Given the description of an element on the screen output the (x, y) to click on. 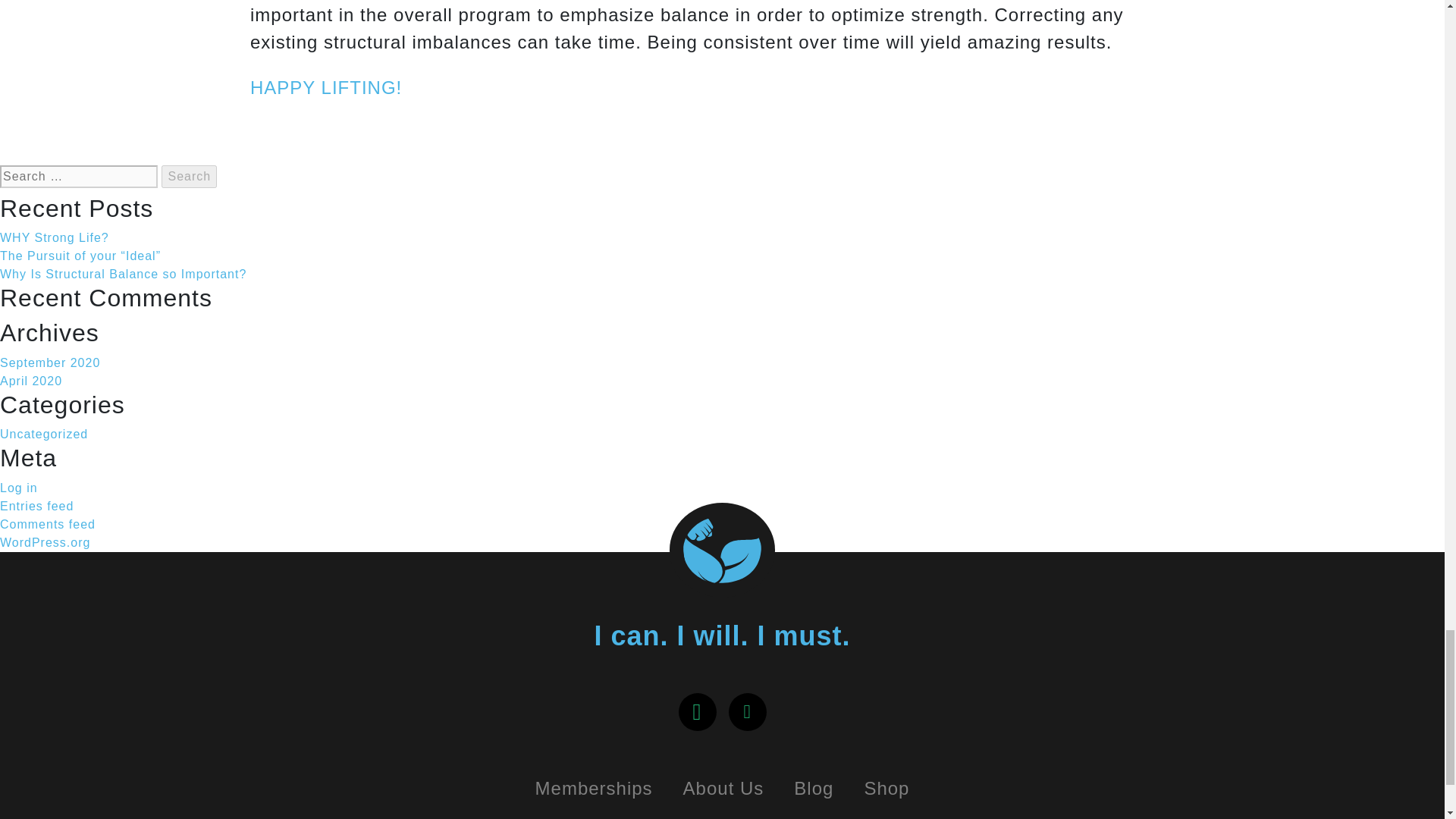
WHY Strong Life? (54, 237)
Entries feed (37, 505)
April 2020 (31, 380)
About Us (723, 788)
View your shopping cart (498, 814)
Privacy Policy (624, 814)
Blog (813, 788)
Why Is Structural Balance so Important? (123, 273)
Shop (886, 788)
Log in (18, 487)
Search (188, 176)
Uncategorized (43, 433)
Search (188, 176)
Comments feed (48, 523)
September 2020 (50, 362)
